Given the description of an element on the screen output the (x, y) to click on. 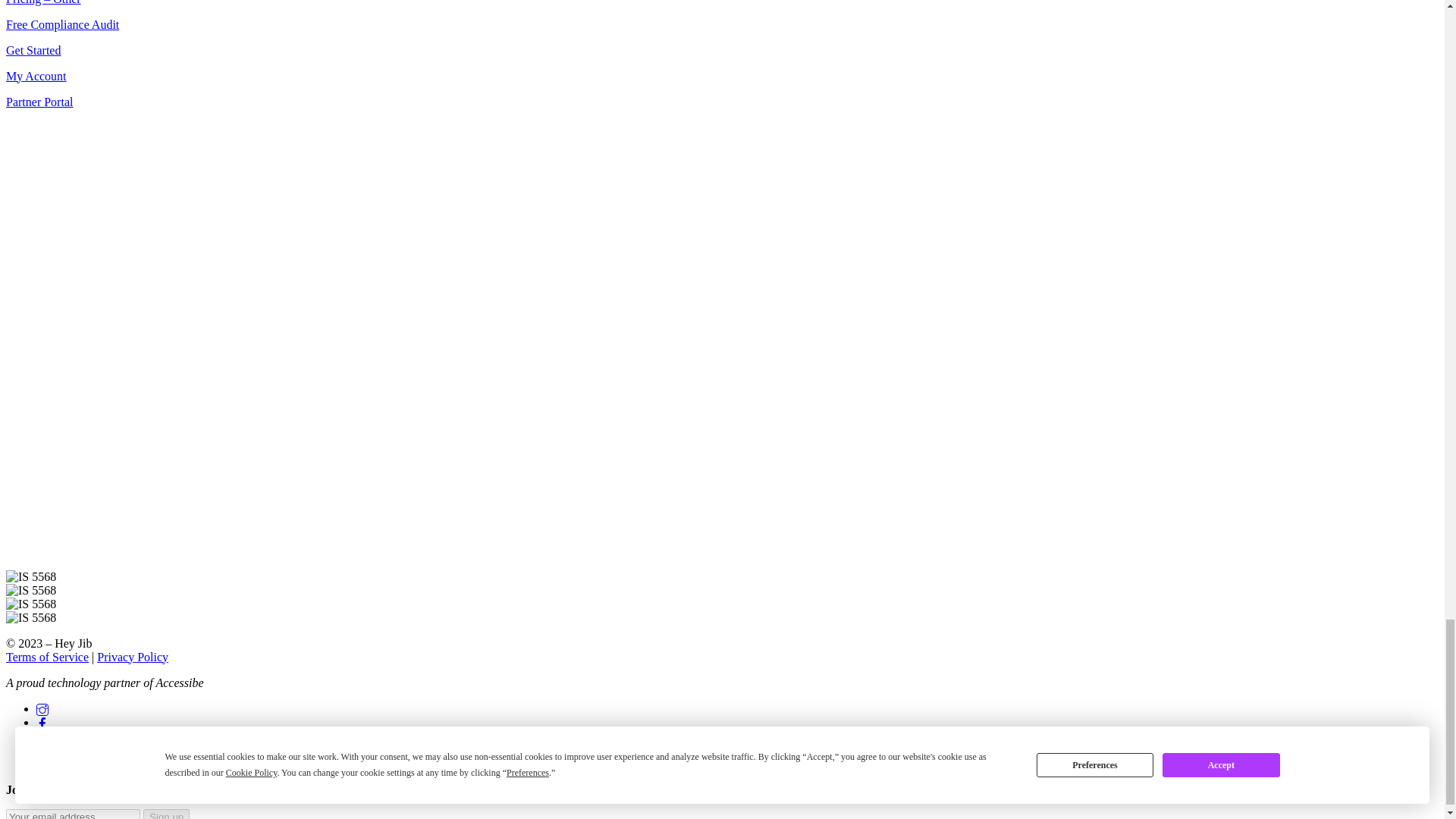
IS 5568 (30, 576)
IS 5568 (30, 617)
IS 5568 (30, 603)
IS 5568 (30, 590)
